Given the description of an element on the screen output the (x, y) to click on. 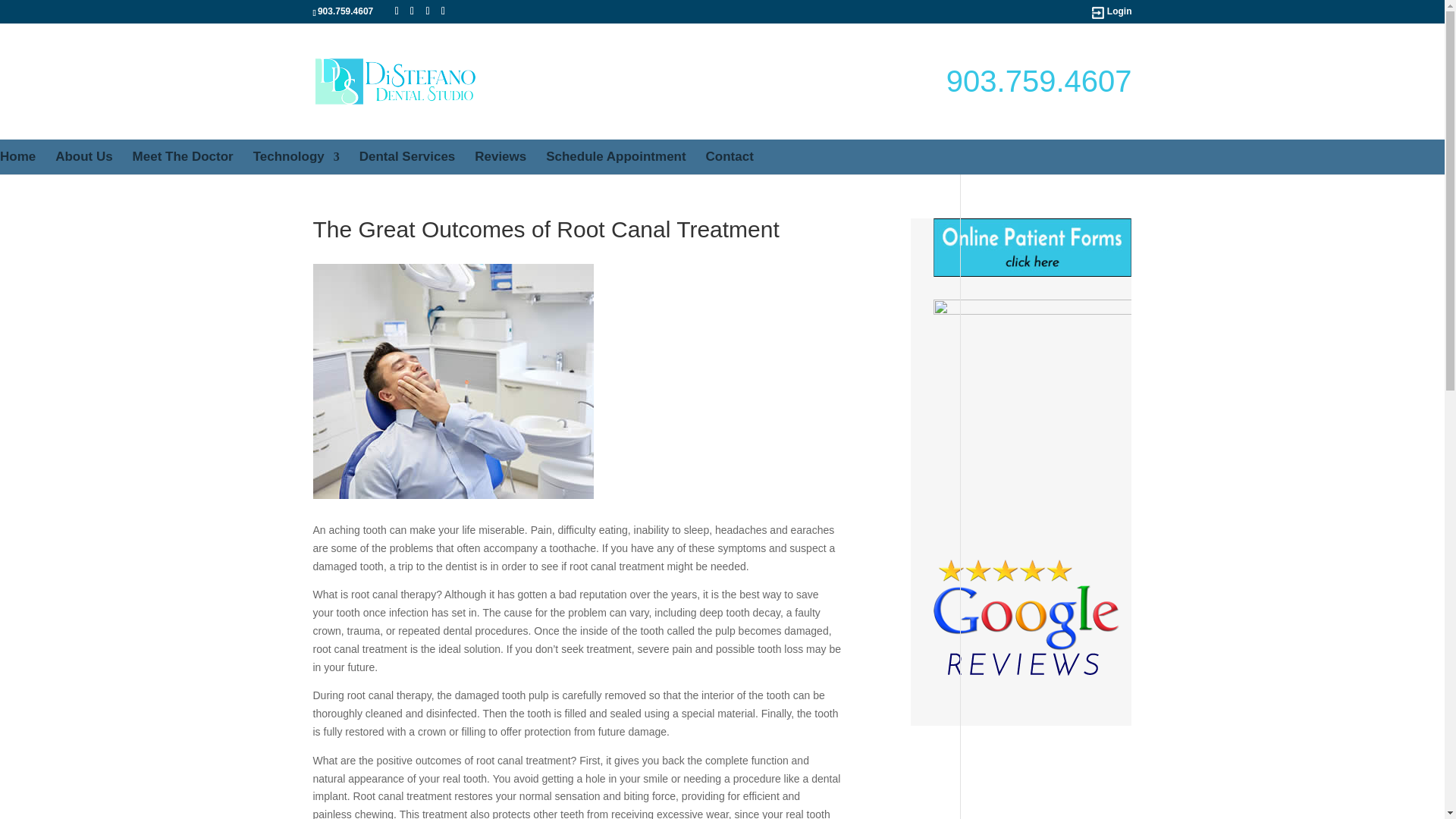
903.759.4607 (1039, 80)
Meet The Doctor (182, 156)
Dental Services (407, 156)
About Us (84, 156)
Home (17, 156)
903.759.4607 (344, 10)
Technology (296, 156)
Login (1119, 12)
Reviews (499, 156)
Schedule Appointment (615, 156)
